Given the description of an element on the screen output the (x, y) to click on. 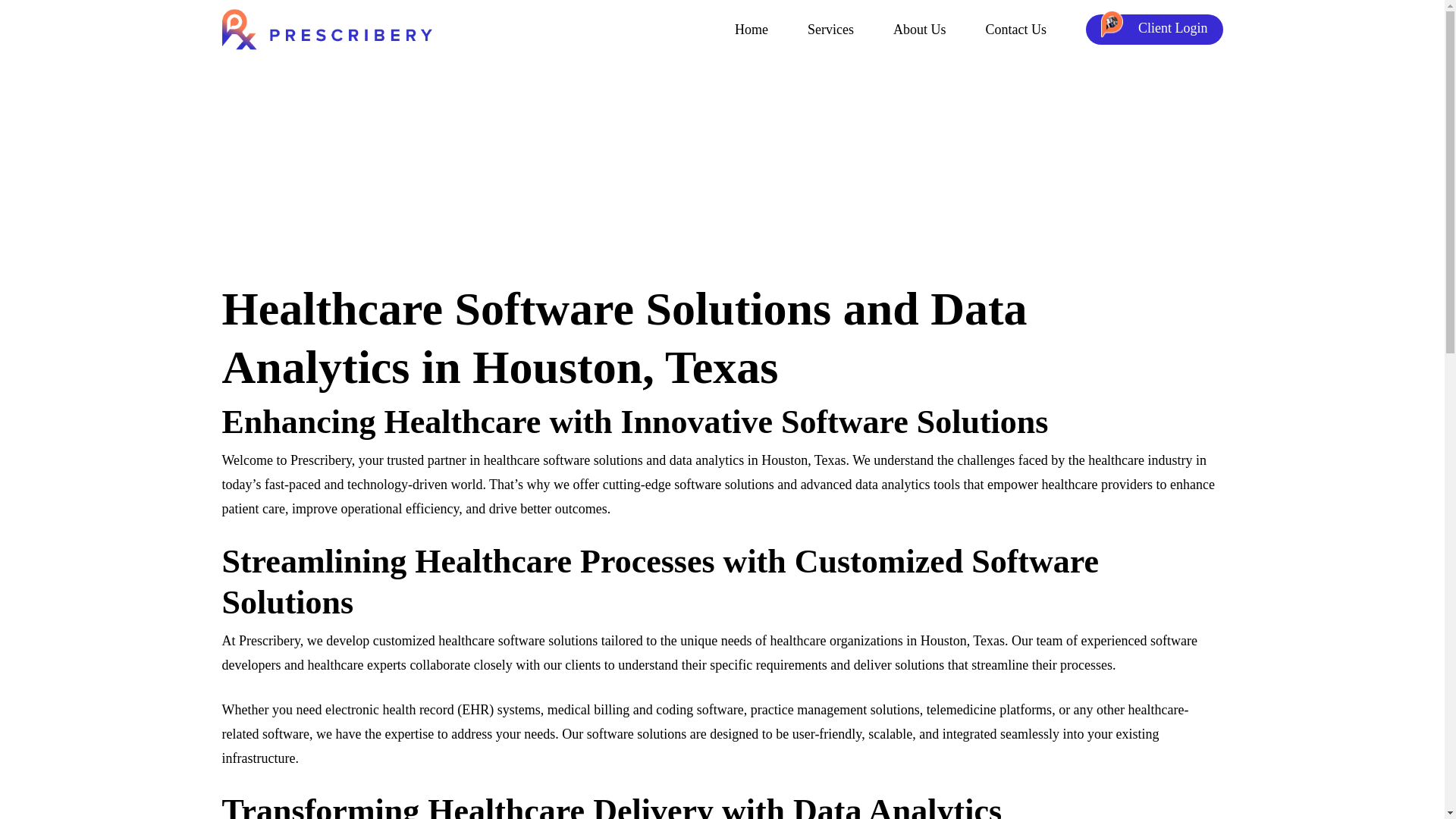
Services (830, 29)
Home (751, 29)
About Us (919, 29)
Client Login (1154, 29)
Contact Us (1015, 29)
